Given the description of an element on the screen output the (x, y) to click on. 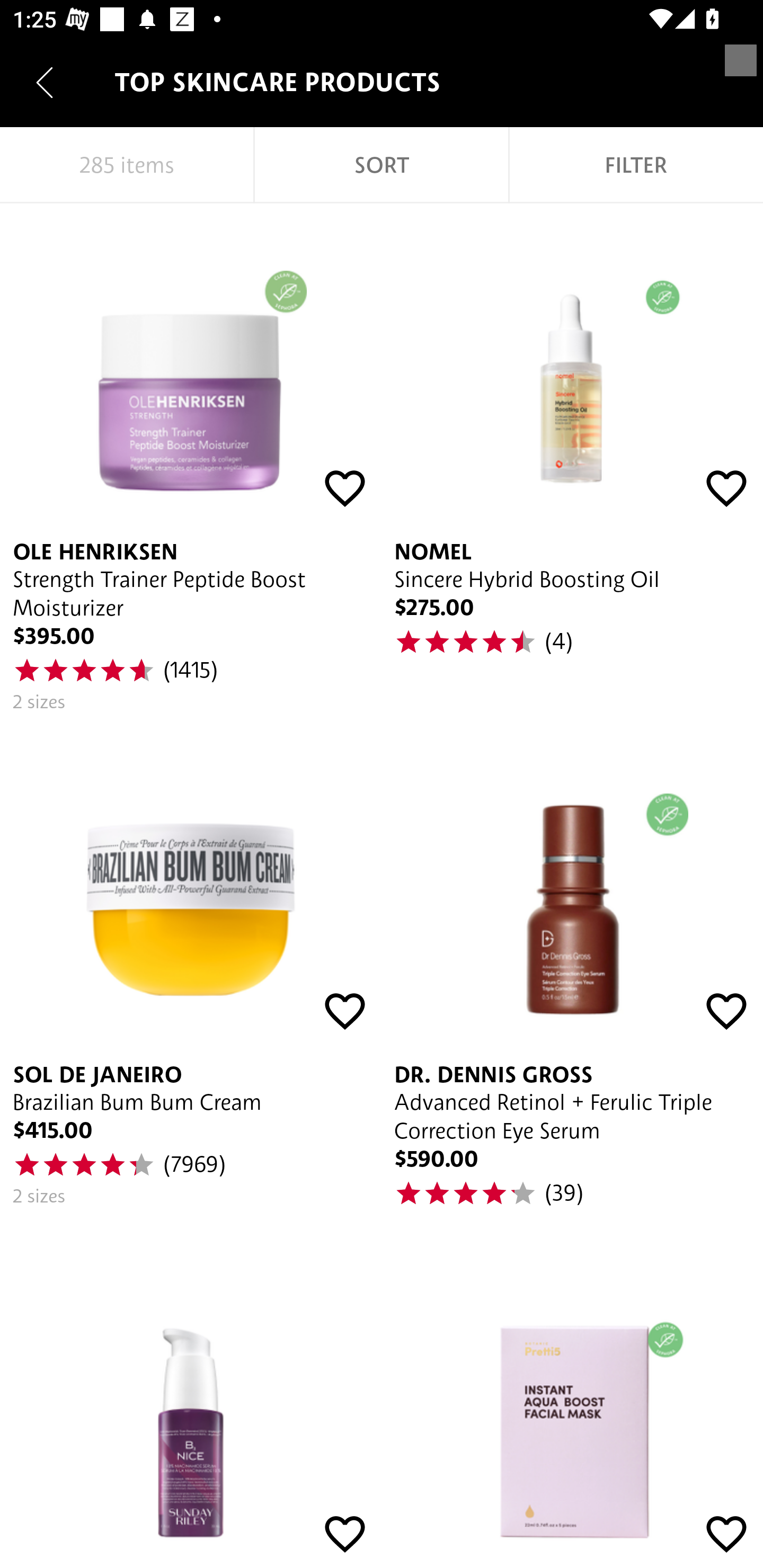
Navigate up (44, 82)
SORT (381, 165)
FILTER (636, 165)
NOMEL Sincere Hybrid Boosting Oil $275.00 45.0 (4) (572, 464)
